Given the description of an element on the screen output the (x, y) to click on. 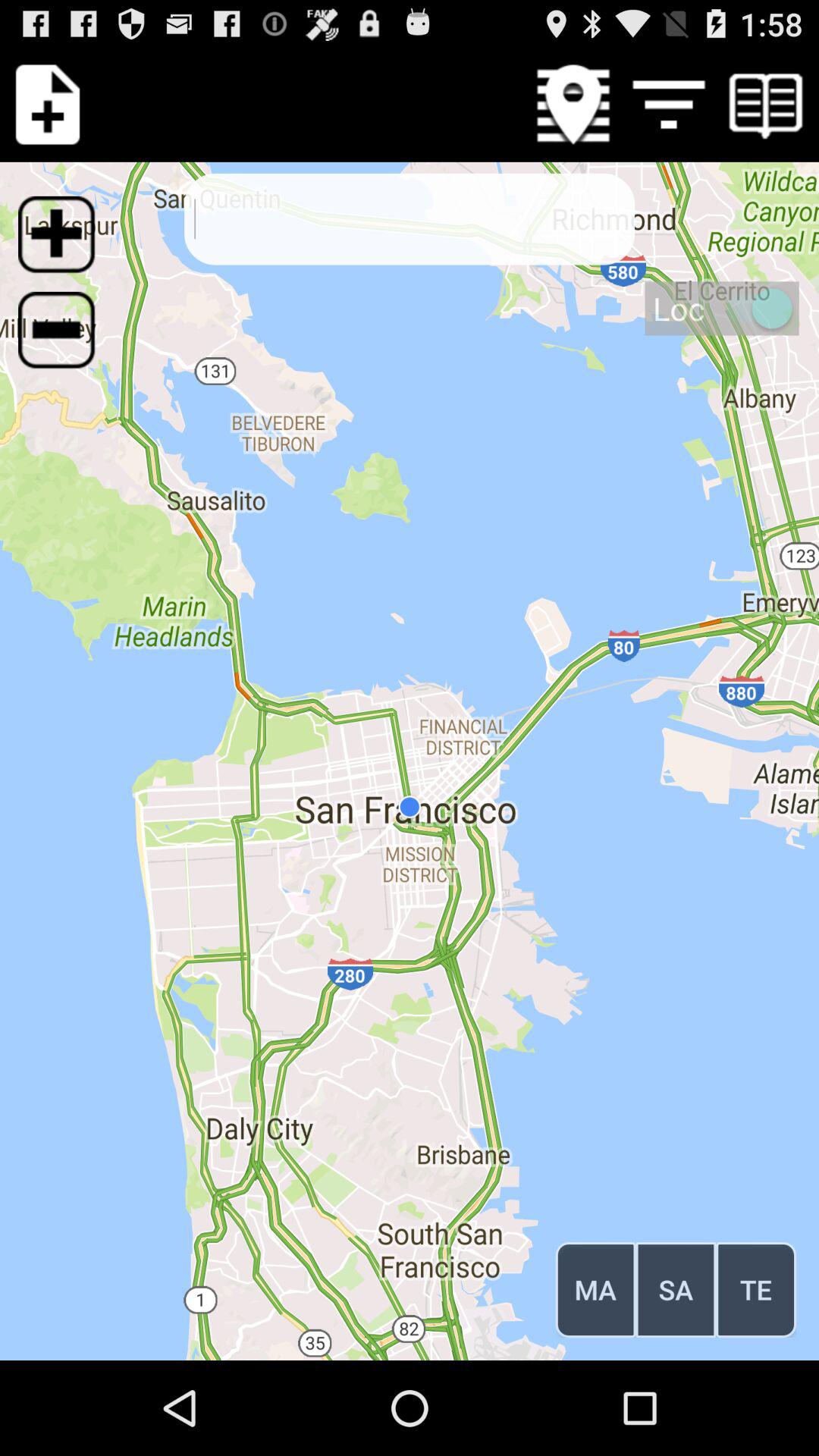
flip until the sa item (675, 1289)
